Given the description of an element on the screen output the (x, y) to click on. 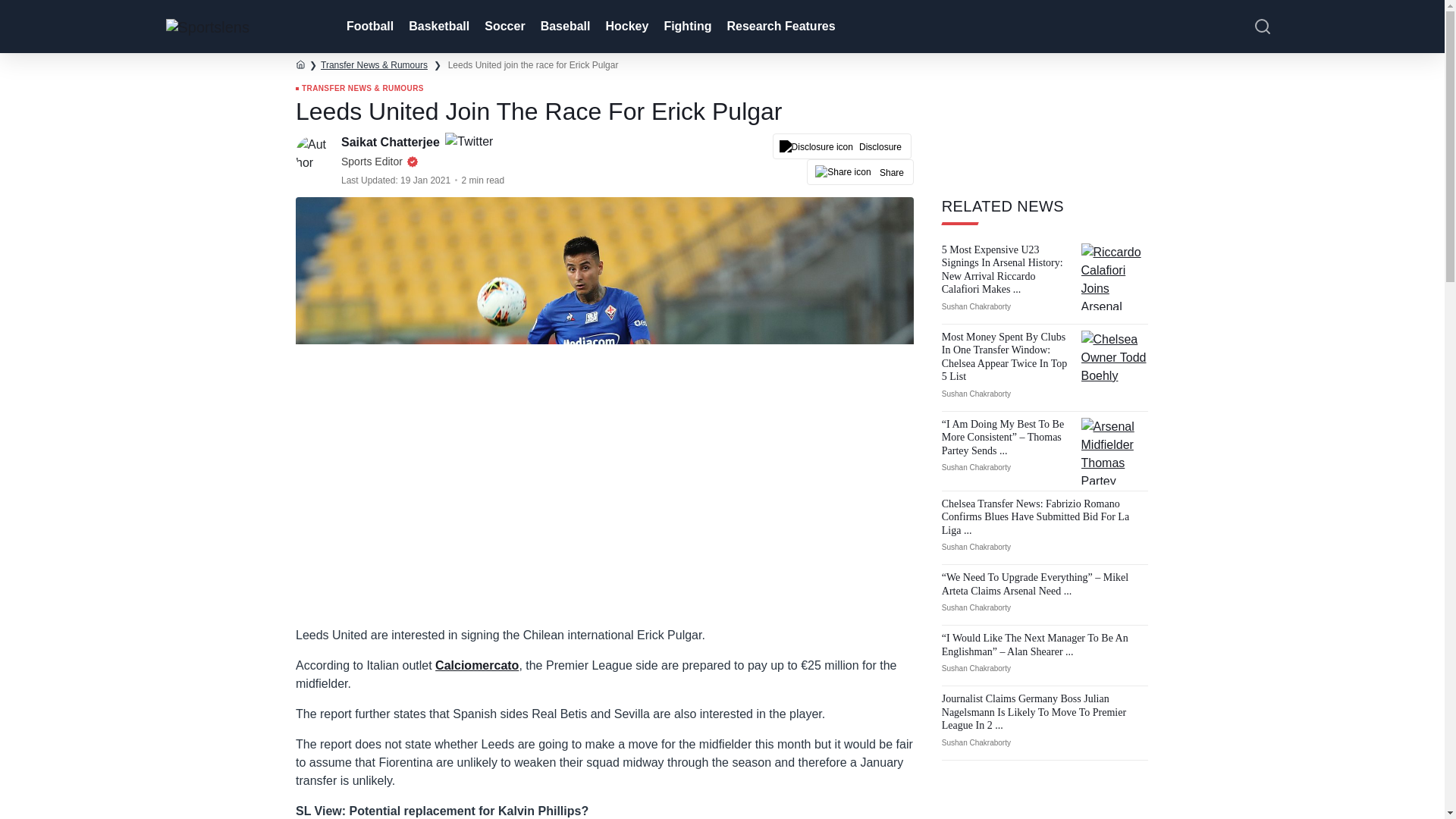
Basketball (437, 26)
Saikat Chatterjee (391, 141)
Research Features (779, 26)
Soccer (503, 26)
Fighting (685, 26)
Baseball (563, 26)
Football (367, 26)
Sushan Chakraborty (976, 393)
Calciomercato (476, 665)
